Given the description of an element on the screen output the (x, y) to click on. 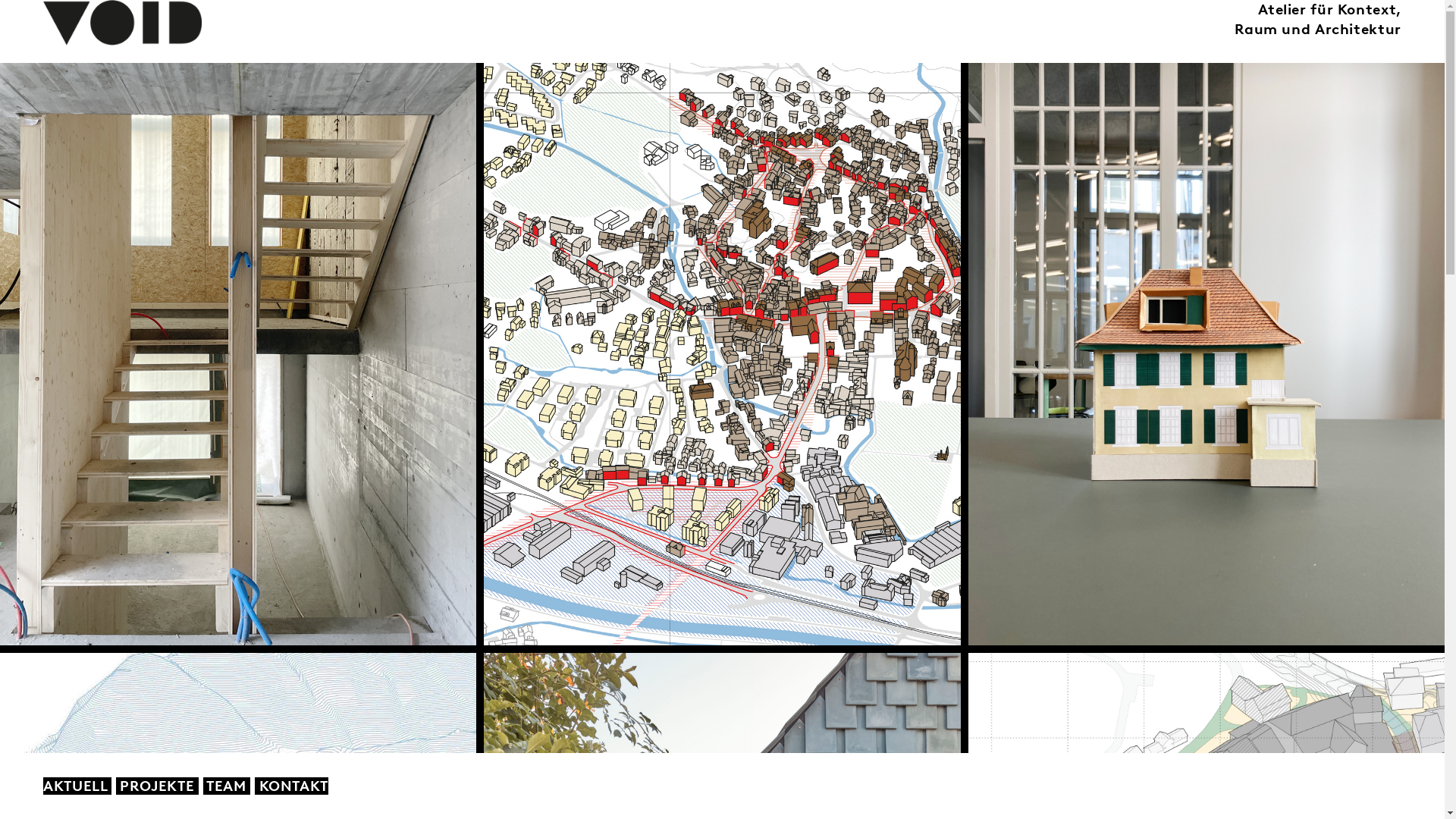
AKTUELL   PROJEKTE Element type: text (120, 785)
TEAM  Element type: text (228, 785)
KONTAKT Element type: text (293, 785)
